Given the description of an element on the screen output the (x, y) to click on. 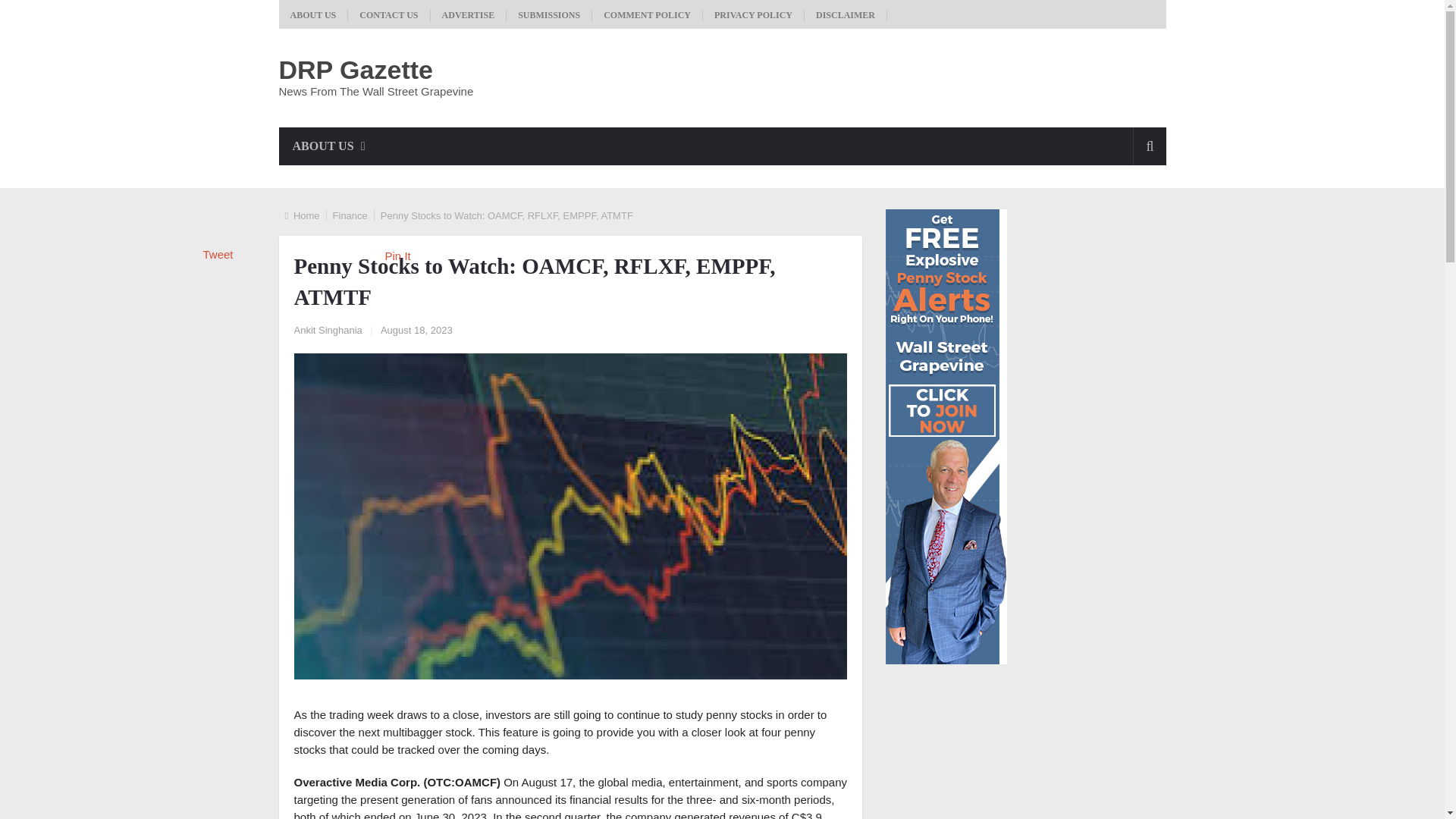
Tweet (217, 254)
ABOUT US (314, 15)
DRP Gazette (355, 69)
PRIVACY POLICY (754, 15)
DISCLAIMER (845, 15)
Home (307, 215)
Posts by Ankit Singhania (328, 329)
Pin It (397, 255)
ABOUT US (329, 146)
